Given the description of an element on the screen output the (x, y) to click on. 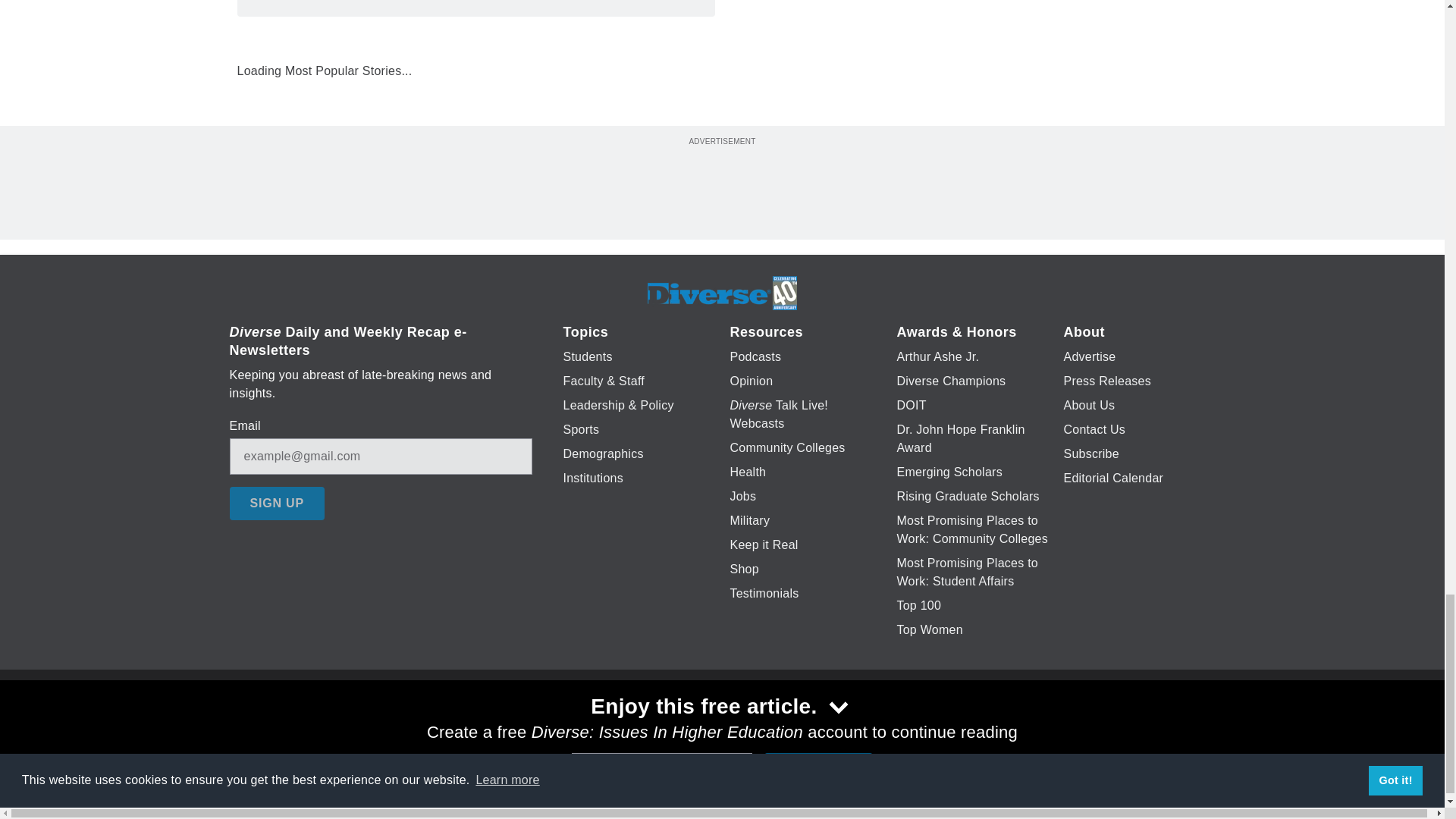
Instagram icon (796, 727)
YouTube icon (757, 727)
Facebook icon (635, 727)
LinkedIn icon (718, 727)
Twitter X icon (674, 727)
